Given the description of an element on the screen output the (x, y) to click on. 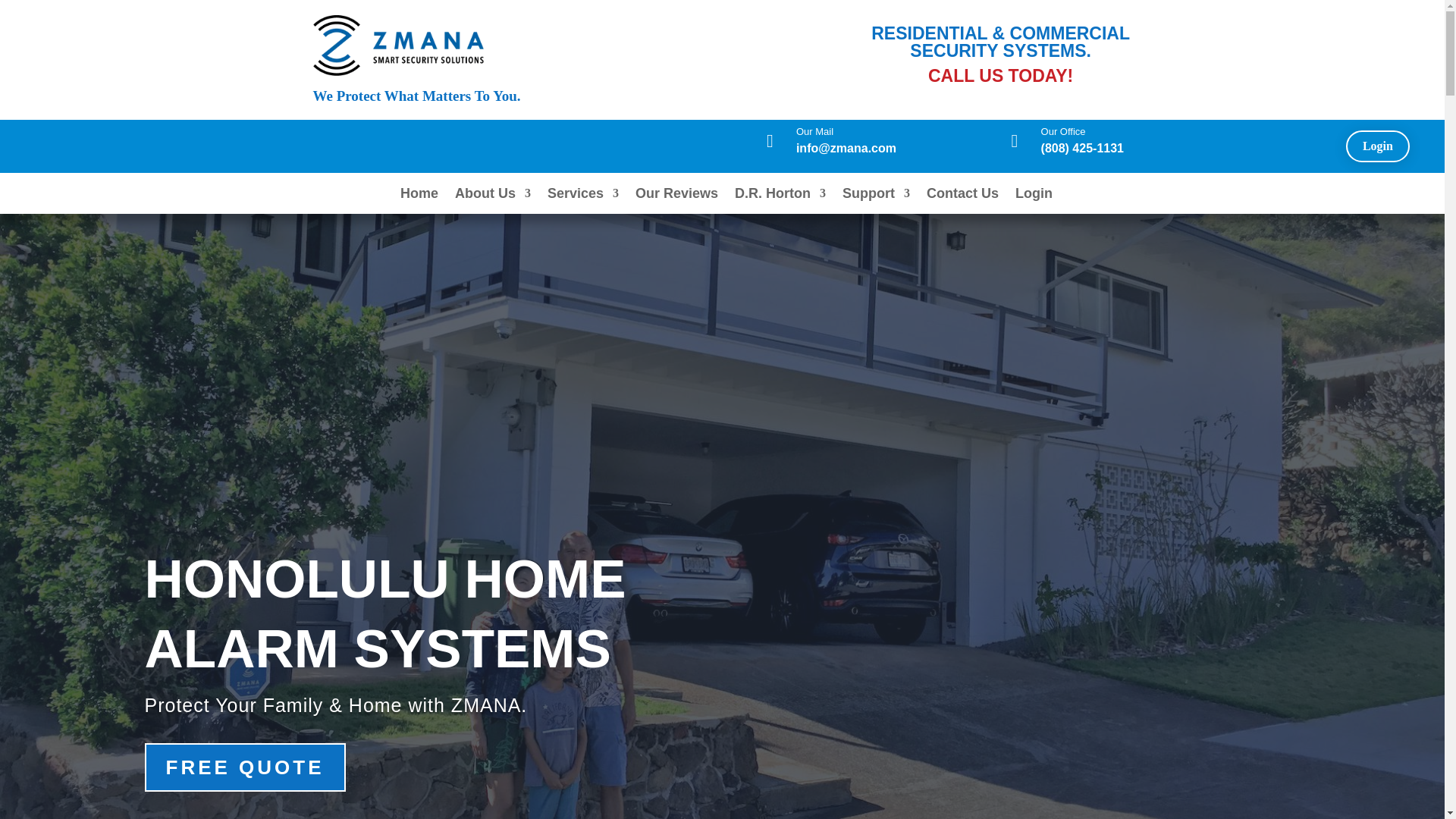
D.R. Horton (780, 196)
Zmana logo (398, 45)
Login (1033, 196)
Home (419, 196)
Services (582, 196)
CALL US TODAY! (1000, 75)
Login (1377, 145)
Support (876, 196)
Our Reviews (675, 196)
About Us (492, 196)
Contact Us (962, 196)
Our Mail (814, 131)
Our Office (1063, 131)
